Given the description of an element on the screen output the (x, y) to click on. 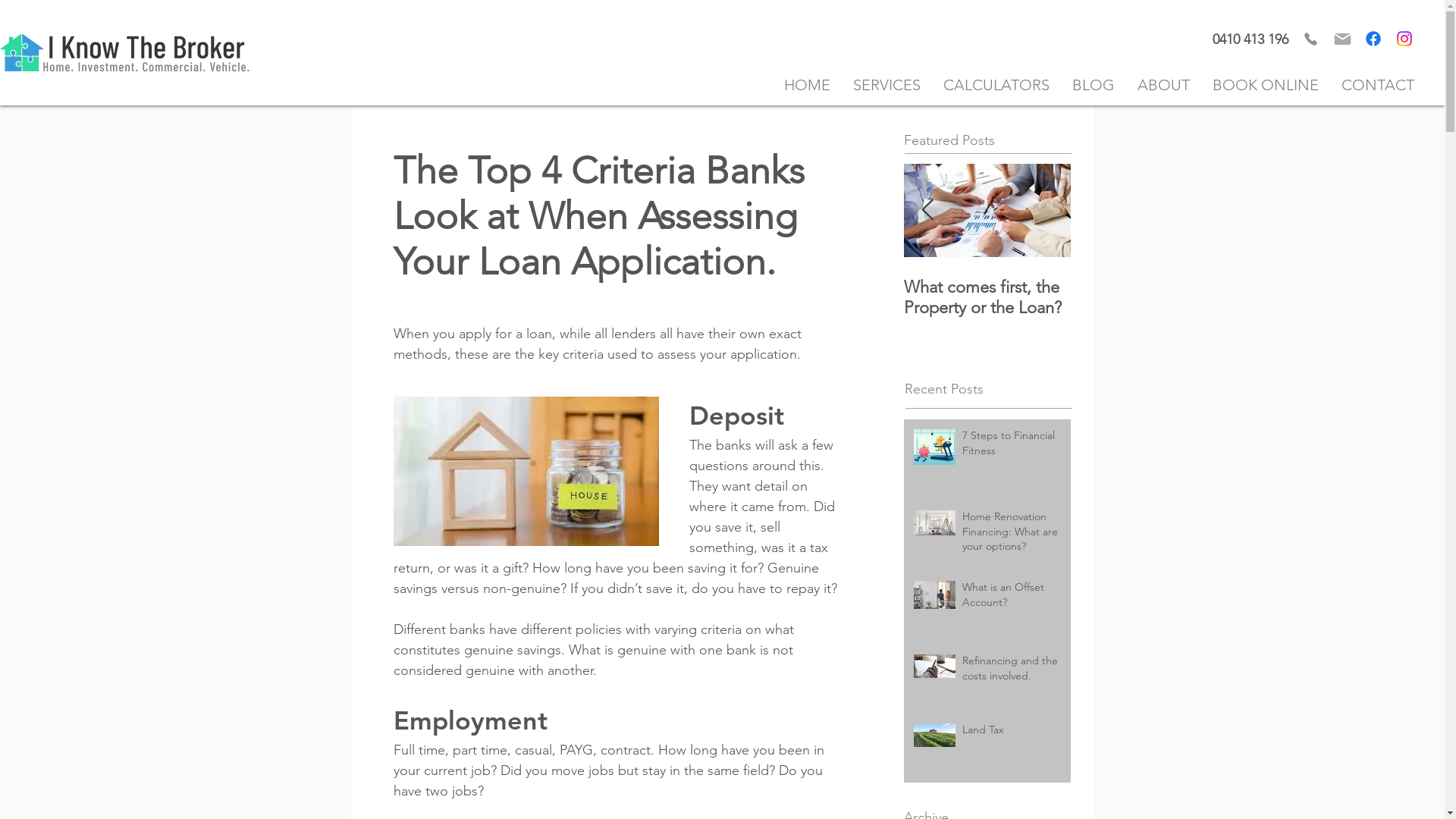
BOOK ONLINE Element type: text (1265, 84)
Offset or Redraw Account? Do they actually help? Element type: text (653, 307)
SERVICES Element type: text (886, 84)
BLOG Element type: text (1093, 84)
ABOUT Element type: text (1163, 84)
Self-Employed PAYG Income Verification. Element type: text (319, 296)
CALCULATORS Element type: text (995, 84)
What comes first, the Property or the Loan? Element type: text (986, 296)
Refinancing and the costs involved. Element type: text (1012, 671)
Home Renovation Financing: What are your options? Element type: text (1012, 534)
Land Tax Element type: text (1012, 732)
7 Steps to Financial Fitness Element type: text (1012, 446)
CONTACT Element type: text (1377, 84)
HOME Element type: text (806, 84)
What is an Offset Account? Element type: text (1012, 597)
0410 413 196 Element type: text (1250, 39)
Simpler Self-Employed Lending Policies! Element type: text (486, 296)
Should you manage your investment property? Element type: text (820, 307)
